Given the description of an element on the screen output the (x, y) to click on. 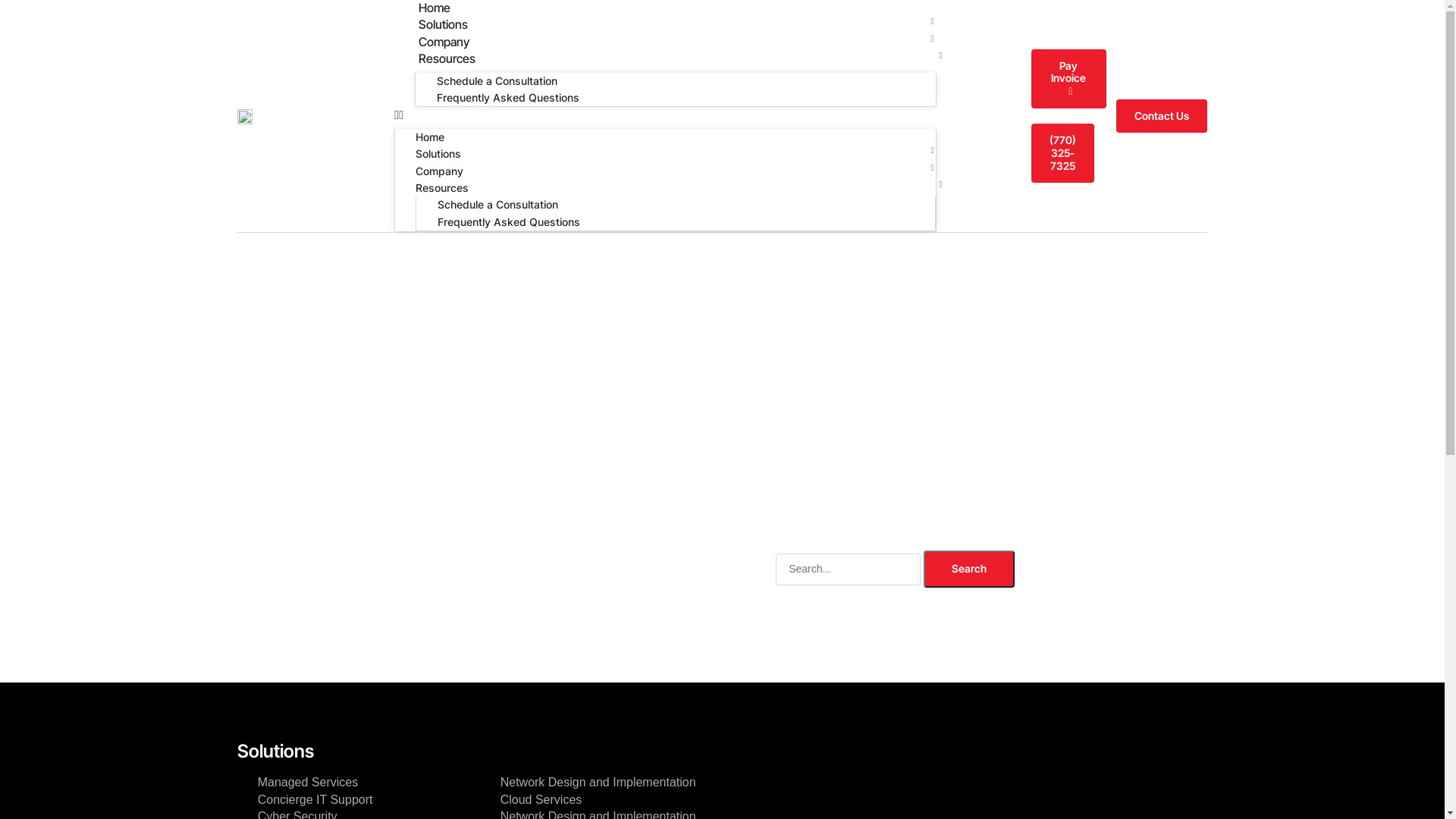
Home Element type: text (429, 136)
Contact Us Element type: text (1161, 116)
Managed Services Element type: text (307, 781)
Resources Element type: text (441, 187)
(770) 325-7325 Element type: text (1062, 152)
Search Element type: text (968, 568)
Pay Invoice Element type: text (1068, 78)
Company Element type: text (443, 41)
Concierge IT Support Element type: text (315, 799)
Frequently Asked Questions Element type: text (508, 221)
Schedule a Consultation Element type: text (497, 204)
Solutions Element type: text (442, 24)
Schedule a Consultation Element type: text (496, 80)
Network Design and Implementation Element type: text (598, 781)
Cloud Services Element type: text (541, 799)
Company Element type: text (439, 170)
Solutions Element type: text (438, 153)
Resources Element type: text (446, 58)
Frequently Asked Questions Element type: text (507, 97)
